Given the description of an element on the screen output the (x, y) to click on. 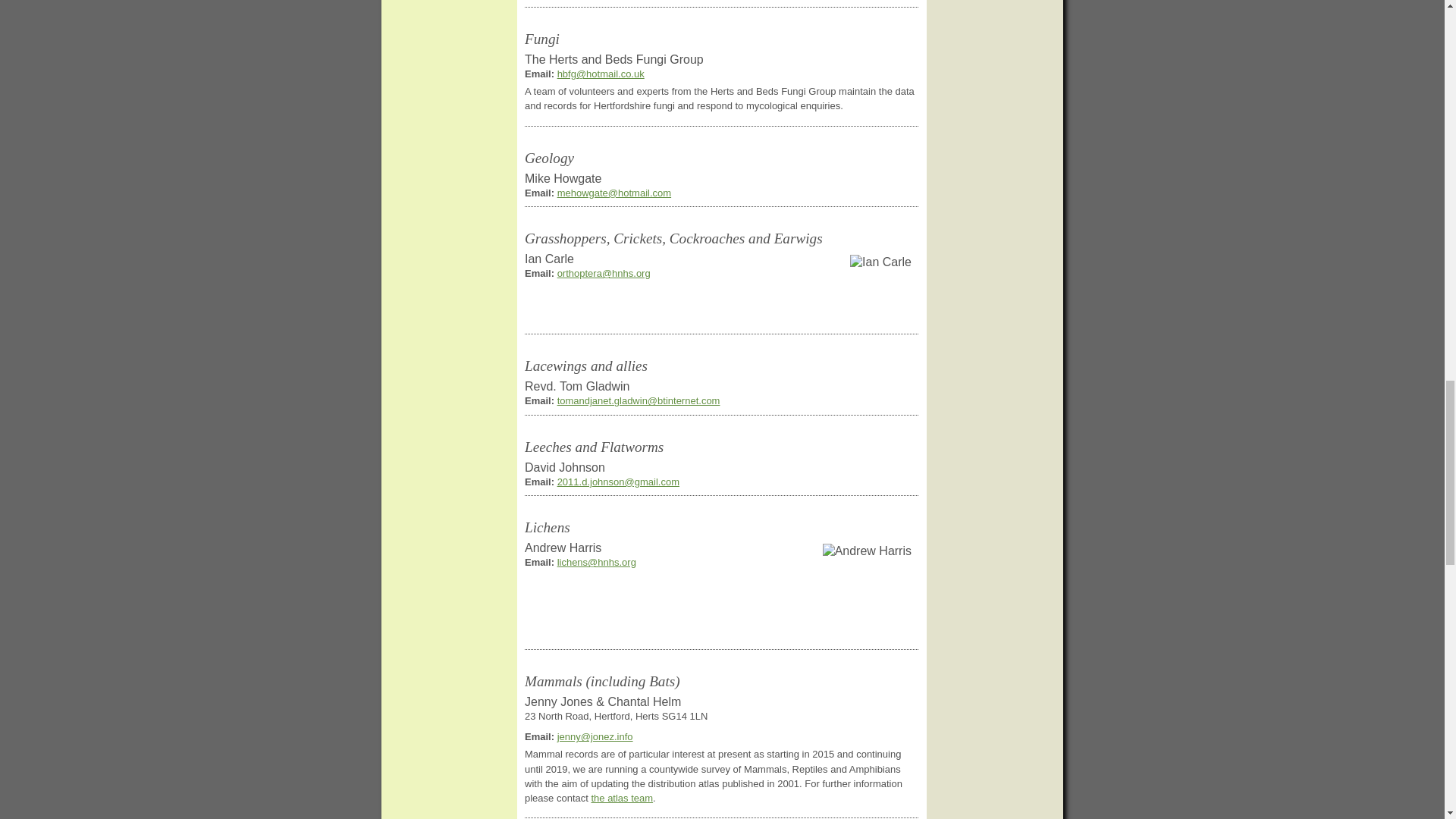
the atlas team (621, 797)
